Given the description of an element on the screen output the (x, y) to click on. 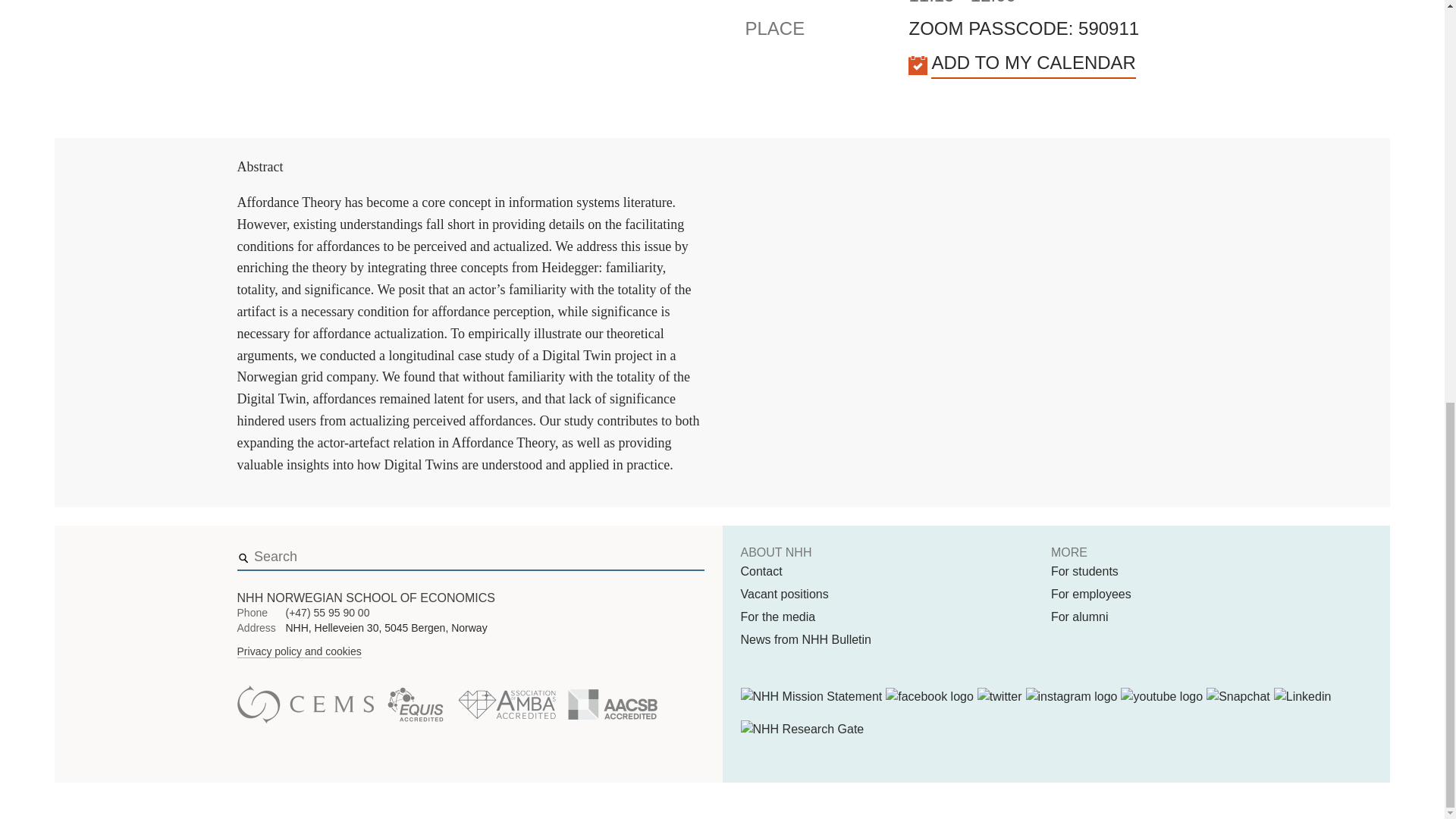
Privacy policy and cookies (299, 651)
Vacant positions (783, 594)
ADD TO MY CALENDAR (1033, 63)
News from NHH Bulletin (804, 639)
For alumni (1079, 617)
Contact (760, 571)
For employees (1091, 594)
For students (1084, 571)
For the media (777, 617)
